Given the description of an element on the screen output the (x, y) to click on. 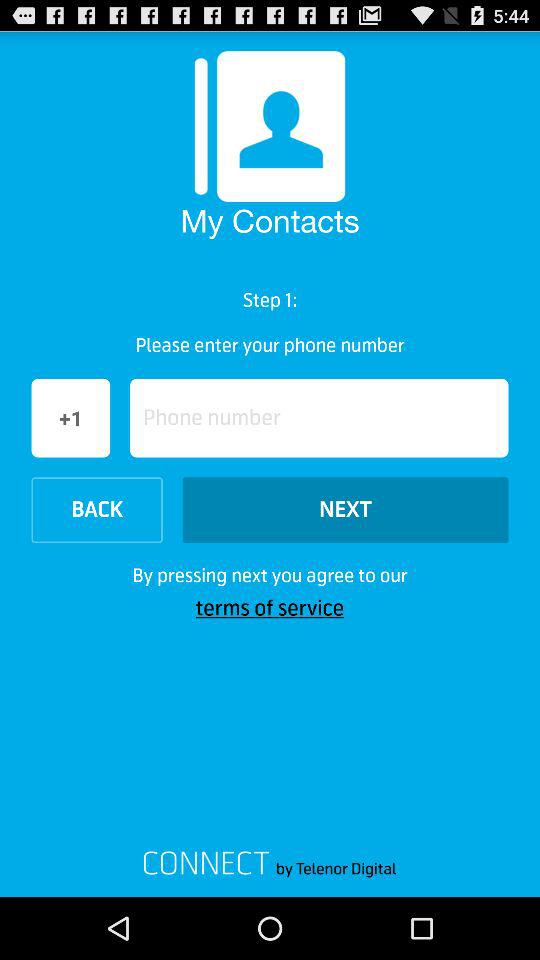
phone number entry (319, 417)
